Given the description of an element on the screen output the (x, y) to click on. 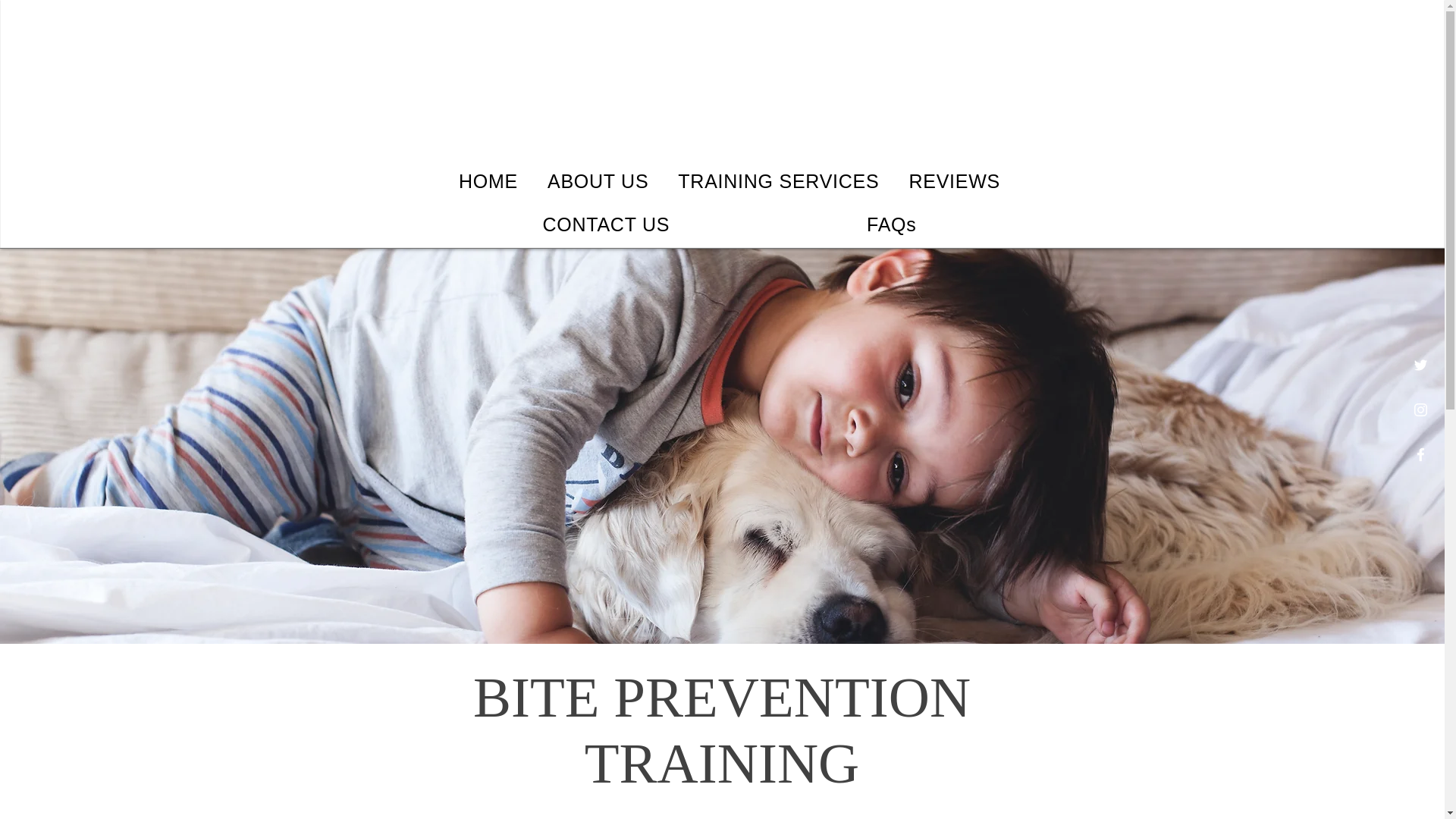
HOME (487, 180)
TRAINING SERVICES (778, 180)
FAQs (891, 224)
ABOUT US (597, 180)
CONTACT US (605, 224)
REVIEWS (953, 180)
